Given the description of an element on the screen output the (x, y) to click on. 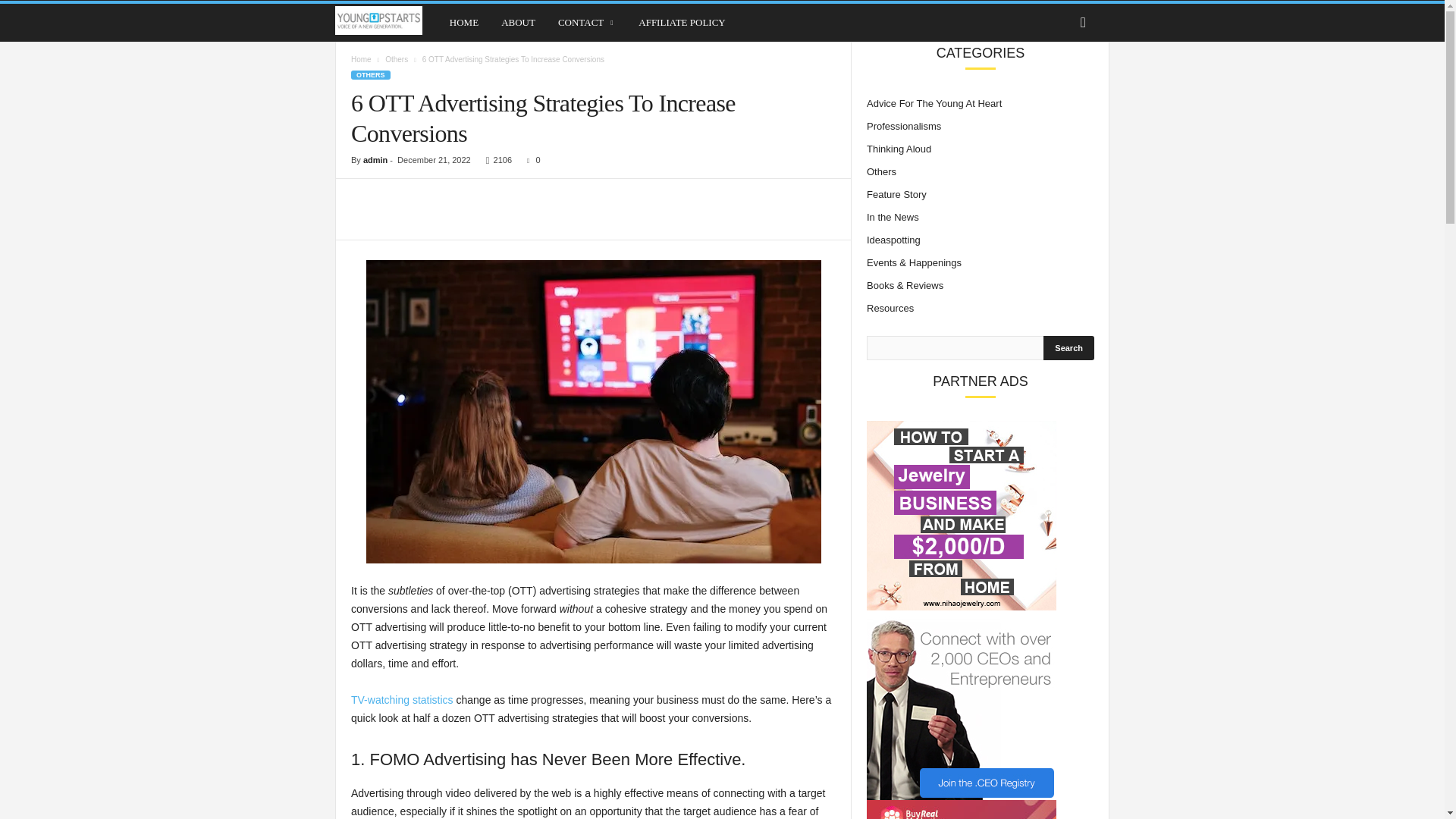
ABOUT (518, 22)
TV-watching statistics (401, 699)
Home (360, 59)
Search (1068, 347)
OTHERS (370, 74)
AFFILIATE POLICY (681, 22)
Others (396, 59)
HOME (463, 22)
View all posts in Others (396, 59)
admin (374, 159)
